Given the description of an element on the screen output the (x, y) to click on. 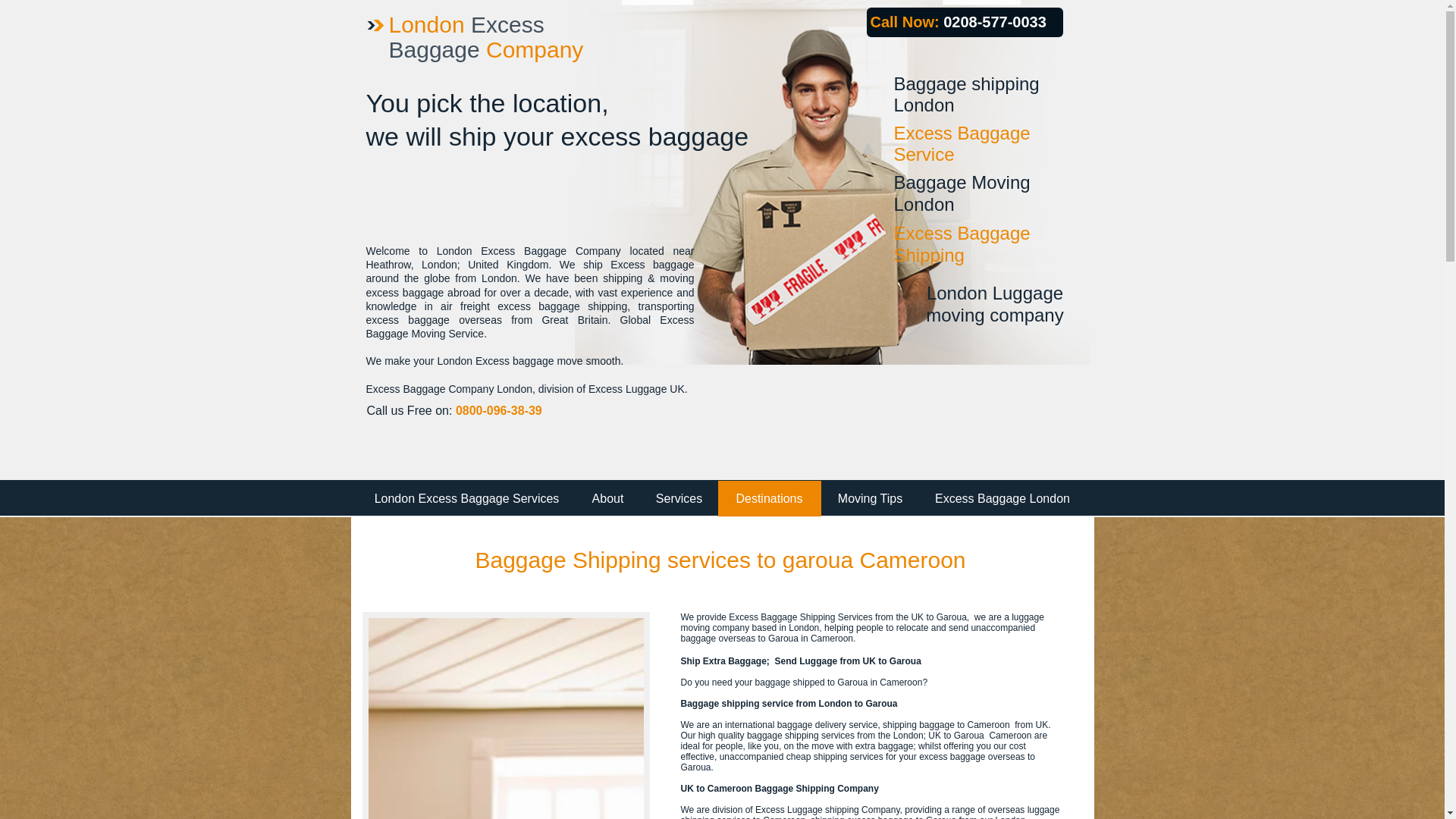
boxes (505, 715)
London Excess Baggage Services (466, 498)
Facebook Like (1032, 394)
Destinations (769, 498)
Services (678, 498)
About (607, 498)
